Given the description of an element on the screen output the (x, y) to click on. 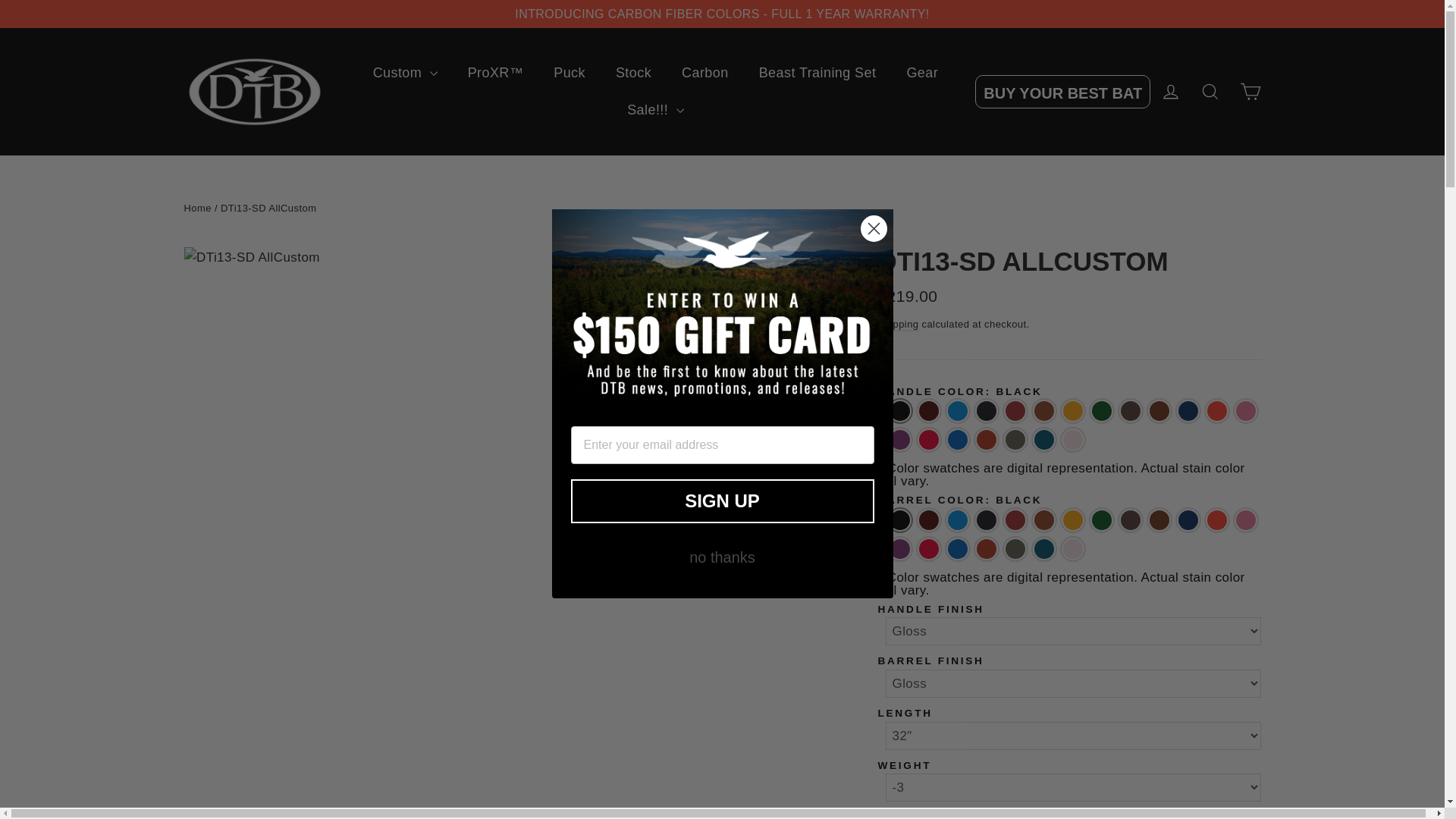
Purple (899, 439)
Cherry (1015, 411)
Coffee (1043, 411)
Red (928, 439)
Light Walnut (1130, 411)
Back to the frontpage (197, 207)
Golden (1072, 411)
Mahogany (1159, 411)
Carolina bue (957, 411)
Black (899, 411)
Orange (1217, 411)
Pink (1246, 411)
Custom (405, 72)
Green (1102, 411)
